Given the description of an element on the screen output the (x, y) to click on. 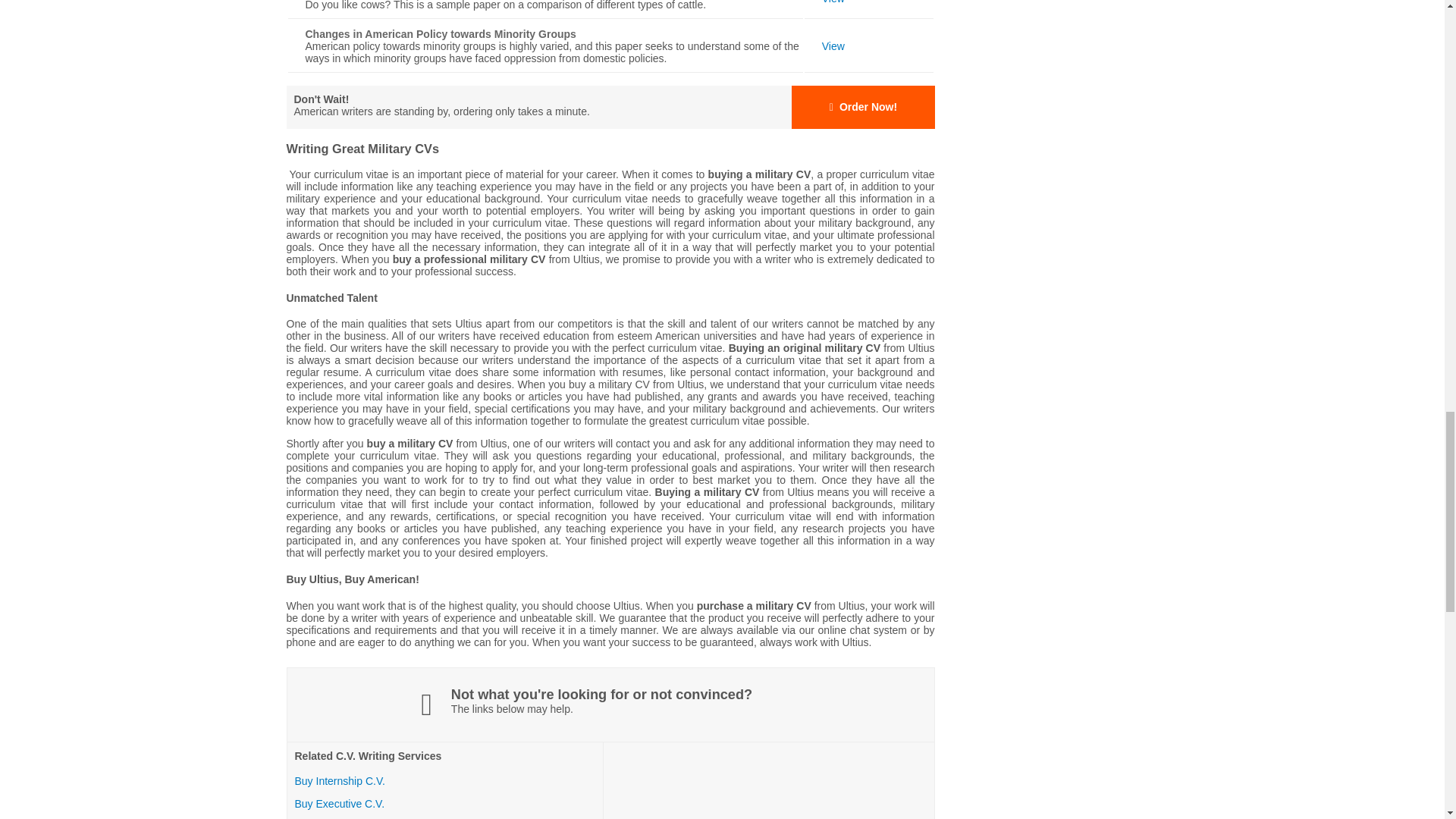
Changes in American Policy towards Minority Groups (833, 46)
Comparison of Angus and Texas Longhorn Cattle (833, 2)
Buy Military CV (610, 106)
